Given the description of an element on the screen output the (x, y) to click on. 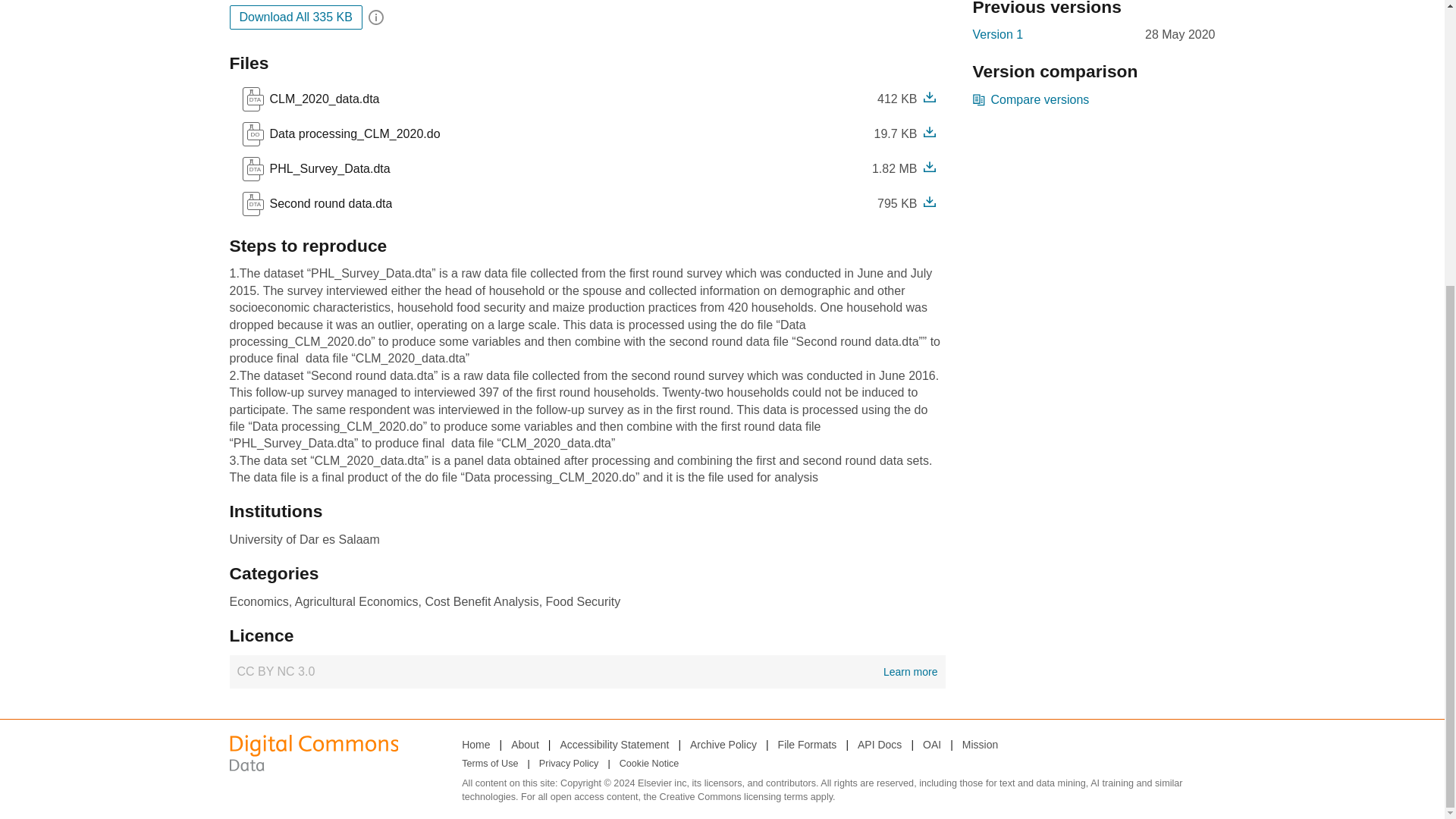
Terms of Use (489, 763)
Archive Policy (723, 744)
About (316, 203)
Home (524, 744)
API Docs (475, 744)
Mission (879, 744)
Compare versions (979, 744)
Second round data.dta (1030, 99)
Accessibility Statement (328, 203)
